Given the description of an element on the screen output the (x, y) to click on. 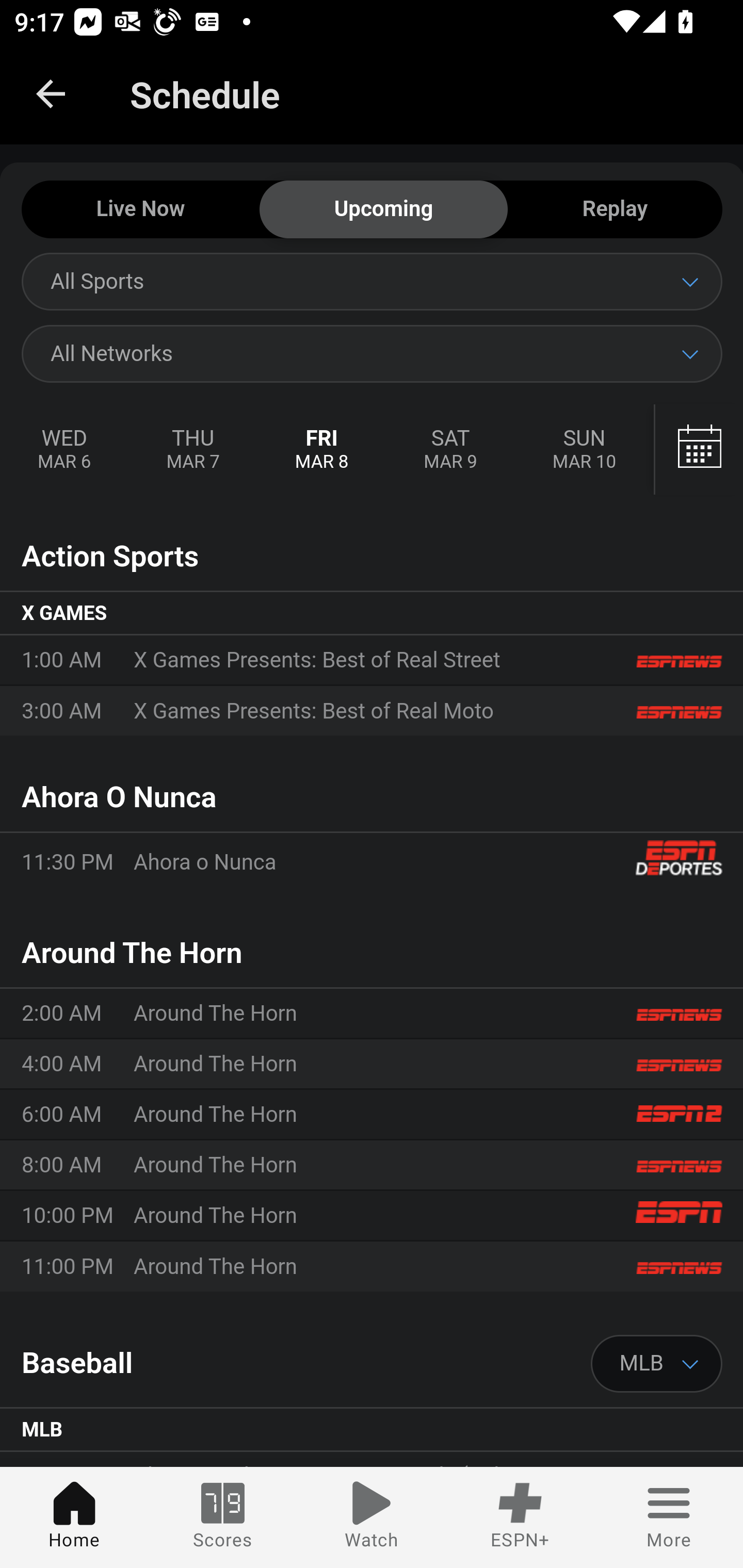
back.button (50, 93)
Live Now (140, 209)
Upcoming (382, 209)
Replay (614, 209)
All Sports (371, 281)
All Networks (371, 353)
Calendar (698, 449)
WED MAR 6 (65, 449)
THU MAR 7 (192, 449)
FRI MAR 8 (321, 449)
SAT MAR 9 (450, 449)
SUN MAR 10 (583, 449)
SUN MAR 31 (697, 449)
MLB (657, 1363)
Scores (222, 1517)
Watch (371, 1517)
ESPN+ (519, 1517)
More (668, 1517)
